Given the description of an element on the screen output the (x, y) to click on. 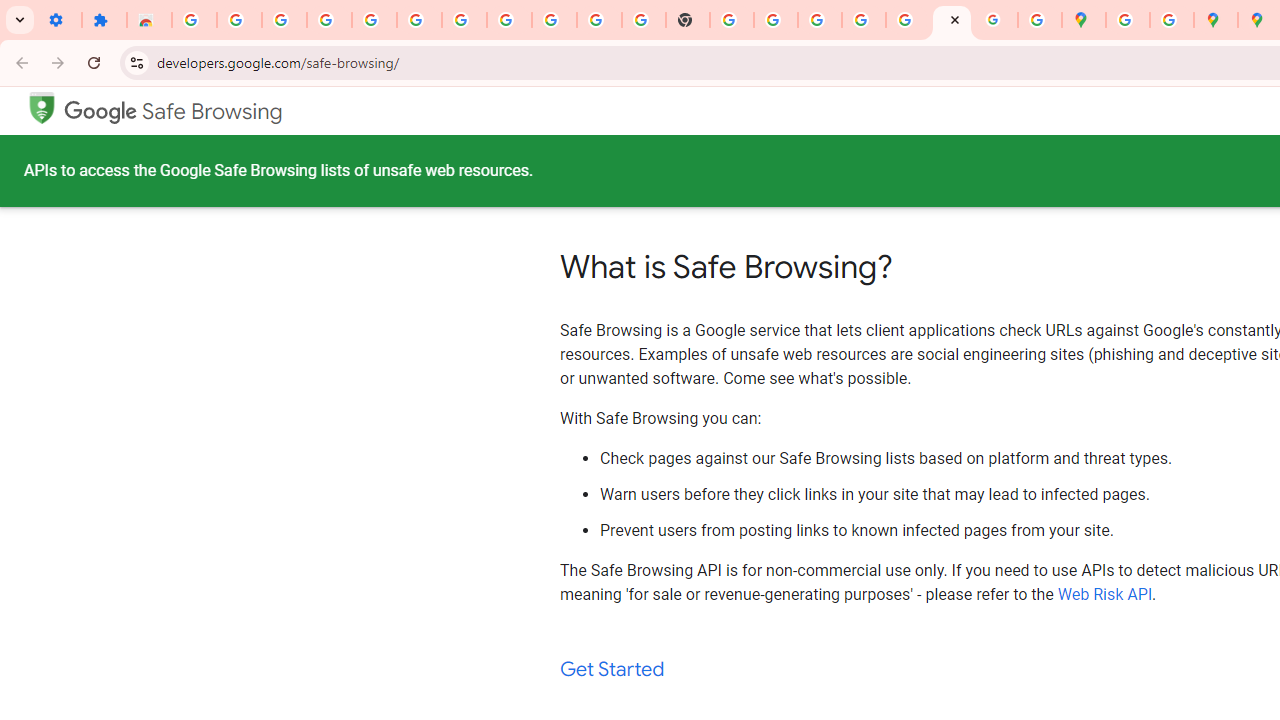
Get Started (612, 669)
Sign in - Google Accounts (464, 20)
YouTube (599, 20)
Delete photos & videos - Computer - Google Photos Help (329, 20)
Google Maps (1083, 20)
